Given the description of an element on the screen output the (x, y) to click on. 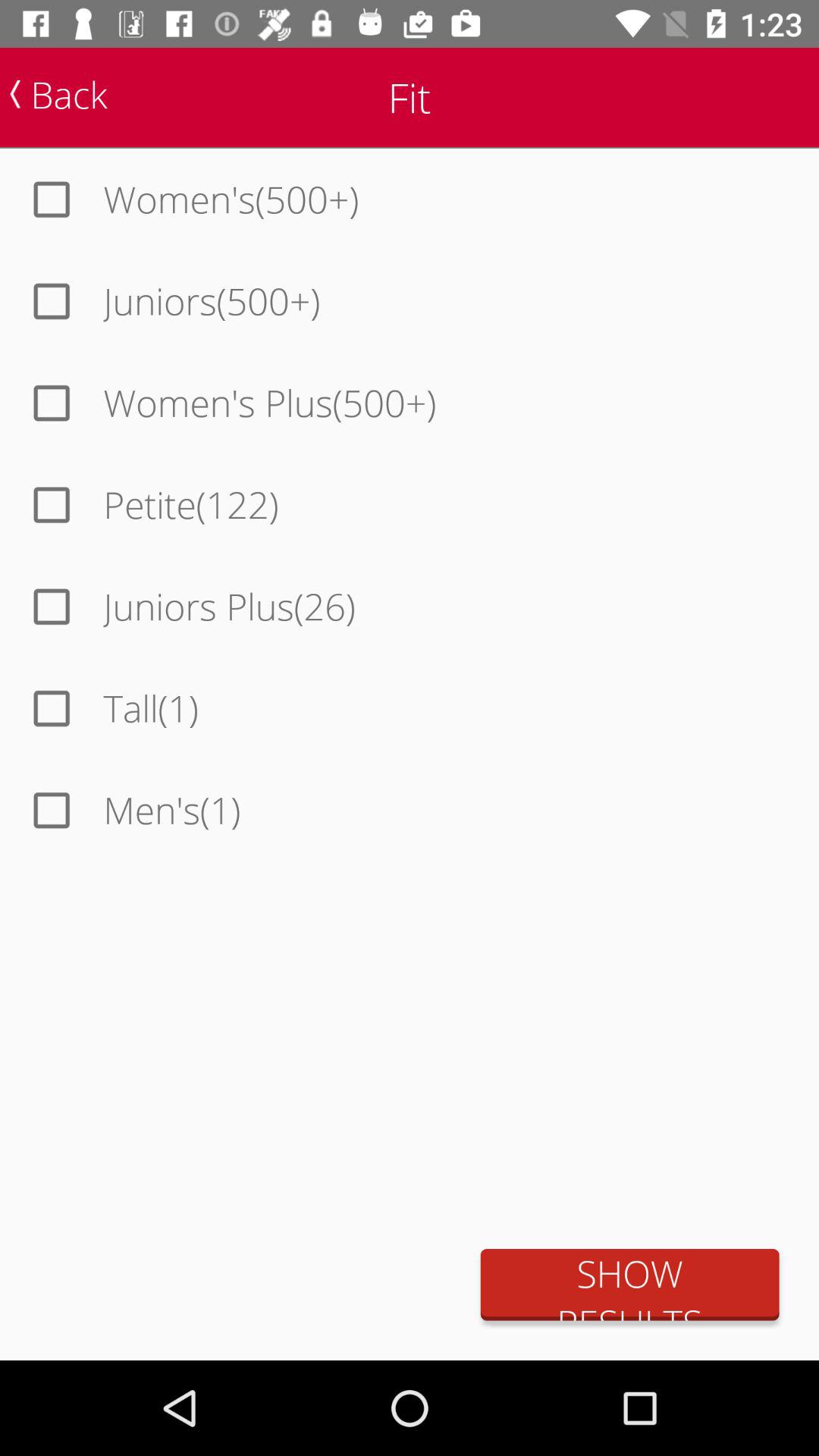
scroll to back (58, 93)
